Given the description of an element on the screen output the (x, y) to click on. 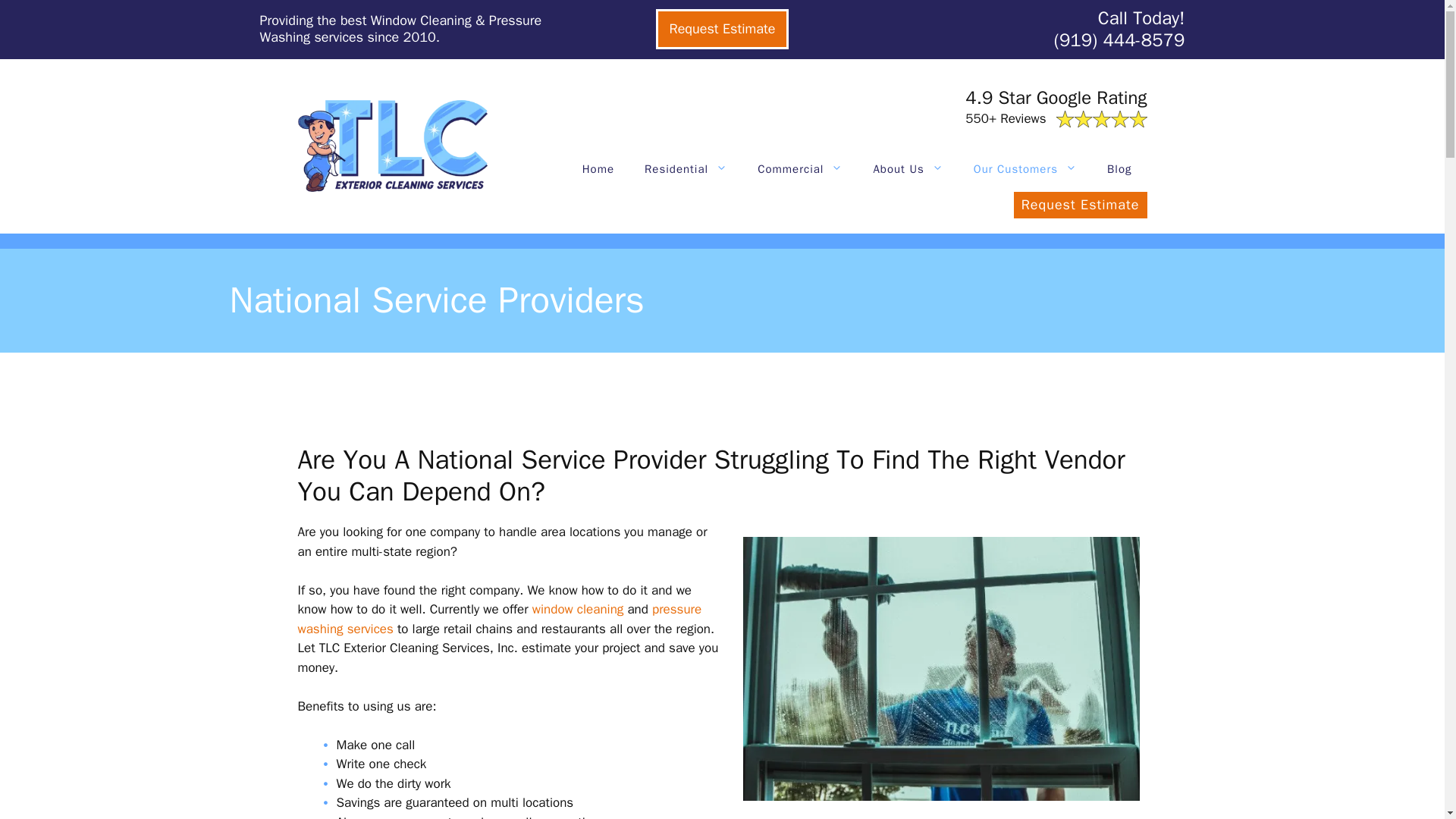
Commercial (799, 168)
Residential (685, 168)
Request Estimate (722, 29)
About Us (907, 168)
Request Estimate (1080, 204)
Our Customers (1025, 168)
Home (597, 168)
Blog (1119, 168)
